Given the description of an element on the screen output the (x, y) to click on. 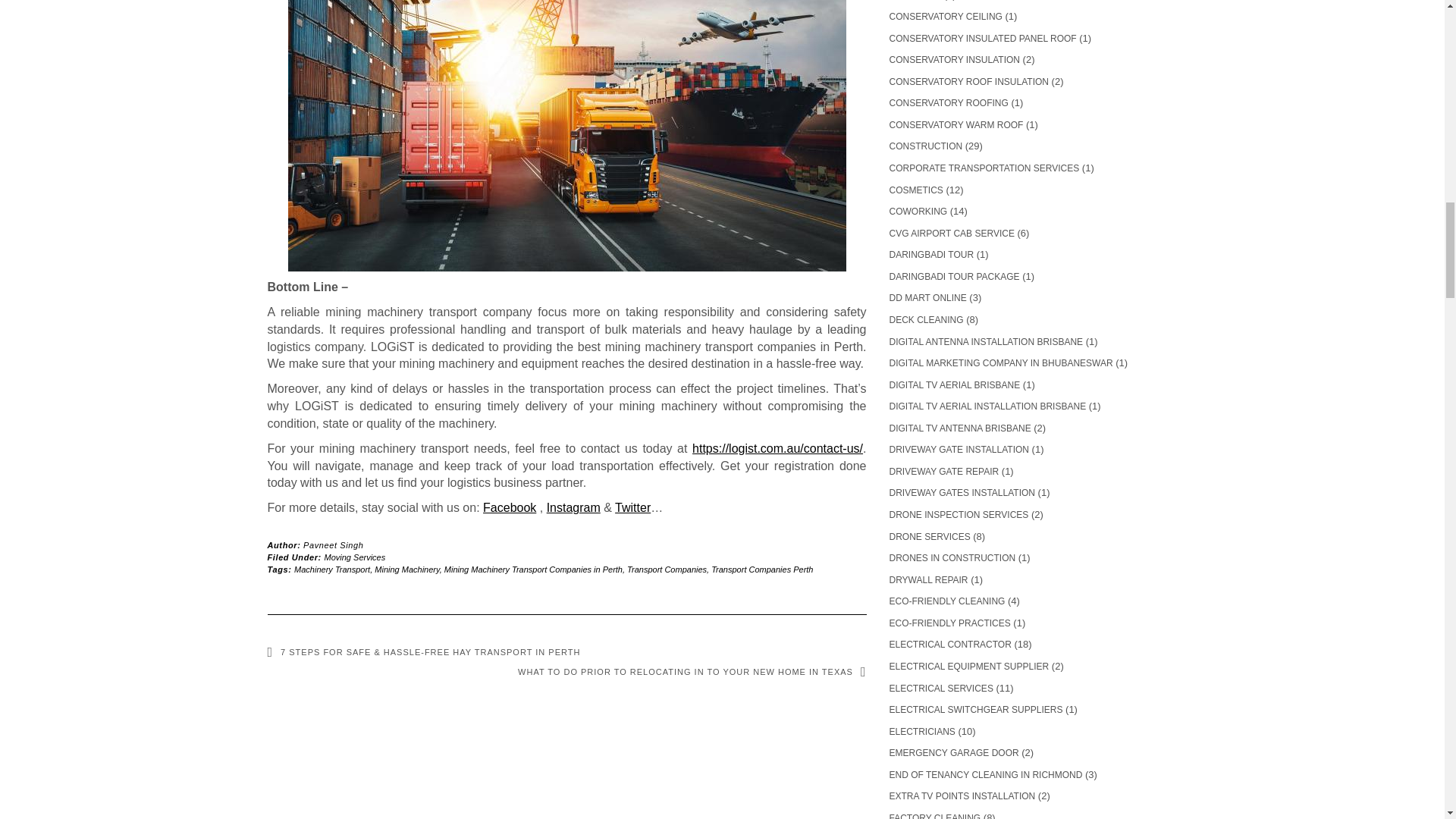
Twitter (632, 507)
Pavneet Singh (332, 544)
Facebook (509, 507)
Moving Services (354, 556)
Mining Machinery (406, 569)
Mining Machinery Transport Companies in Perth (533, 569)
Posts by Pavneet Singh (332, 544)
Transport Companies (666, 569)
WHAT TO DO PRIOR TO RELOCATING IN TO YOUR NEW HOME IN TEXAS (692, 671)
Machinery Transport (331, 569)
